Given the description of an element on the screen output the (x, y) to click on. 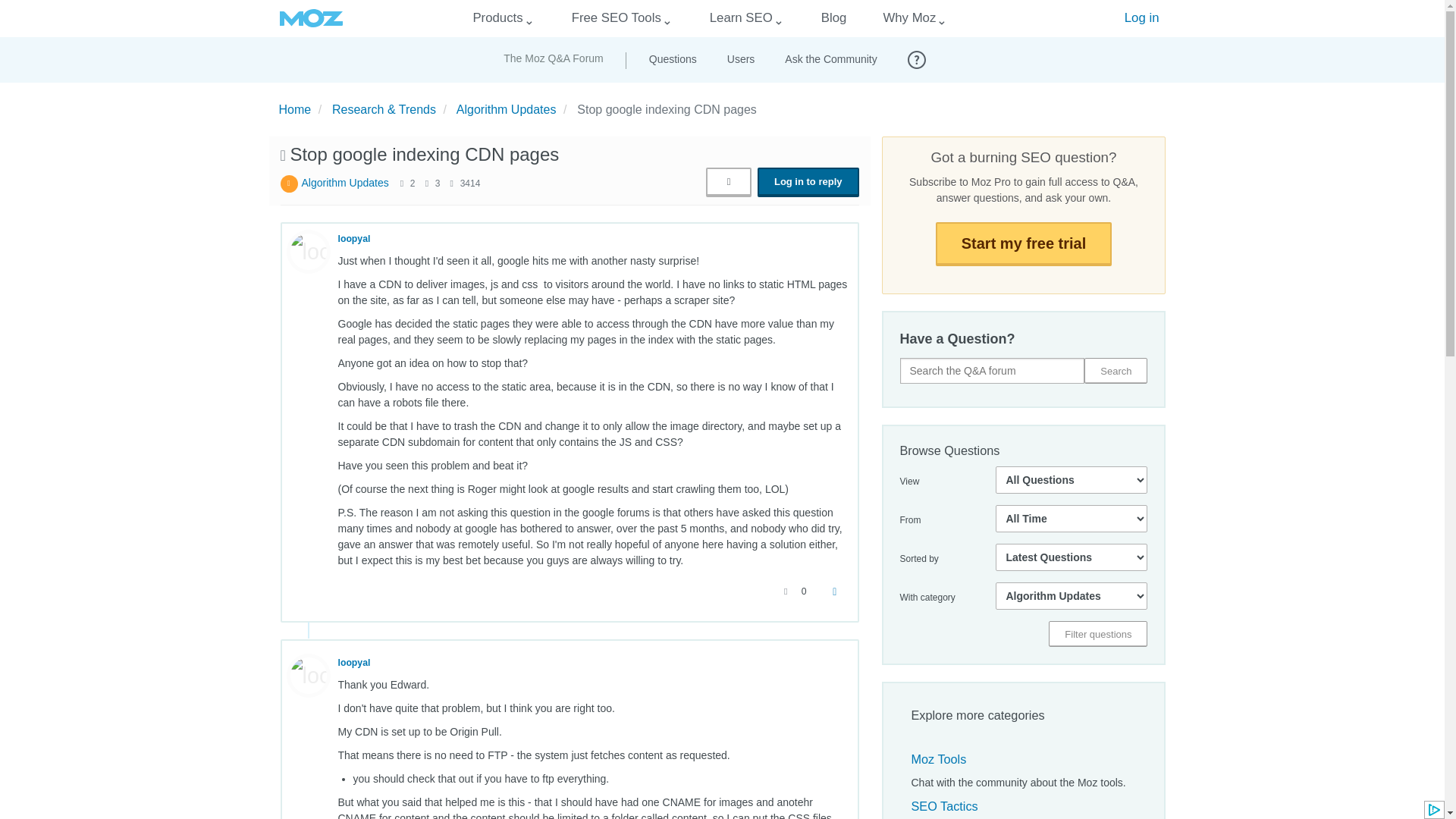
Moz logo (311, 18)
Filter questions (1097, 633)
Moz Home (311, 18)
Products (496, 18)
Moz logo (311, 18)
Search (1115, 370)
